Given the description of an element on the screen output the (x, y) to click on. 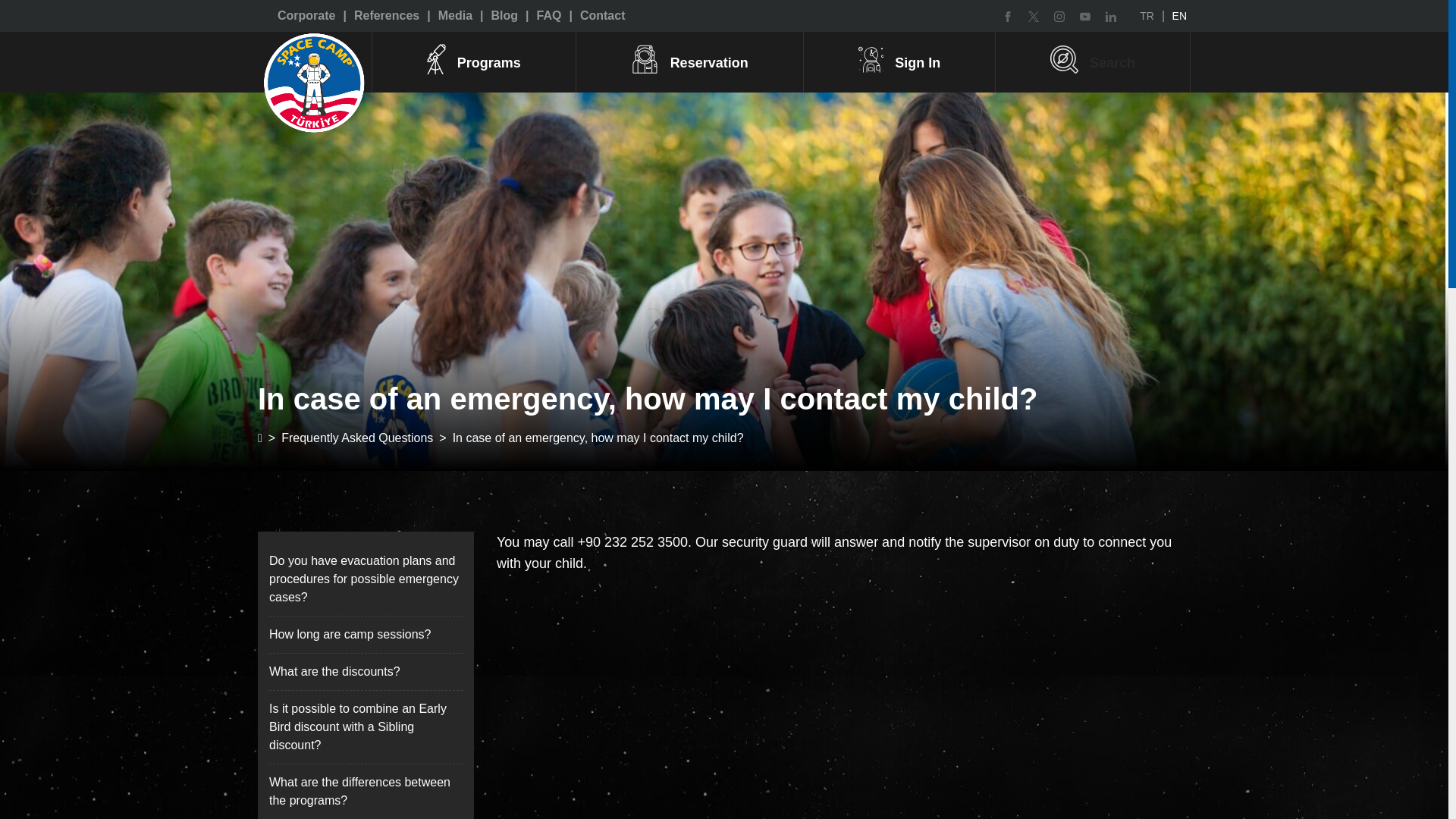
TR (1146, 15)
FAQ (547, 15)
EN (1181, 15)
Contact (600, 15)
Blog (502, 15)
Programs (473, 61)
References (384, 15)
Corporate (305, 15)
Media (453, 15)
